Given the description of an element on the screen output the (x, y) to click on. 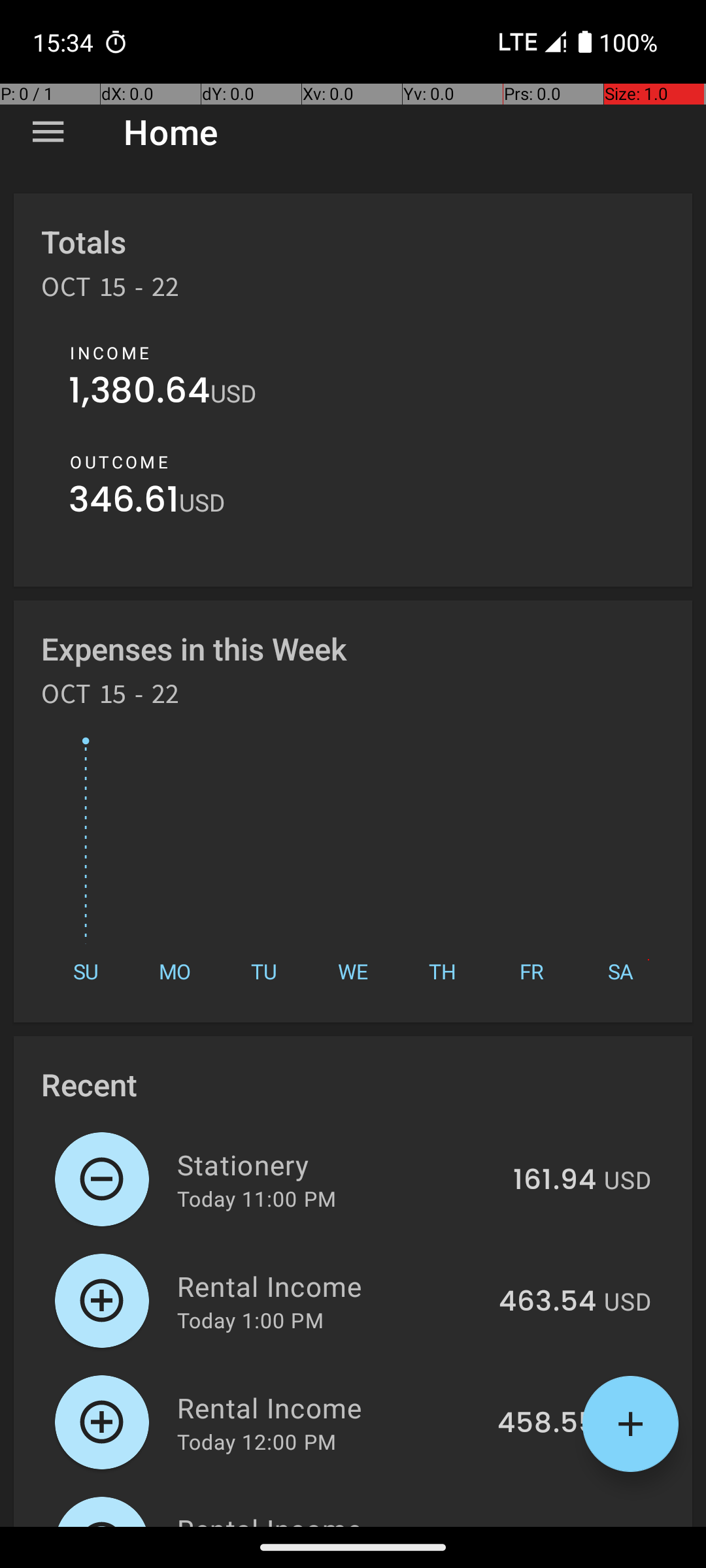
1,380.64 Element type: android.widget.TextView (139, 393)
346.61 Element type: android.widget.TextView (123, 502)
Stationery Element type: android.widget.TextView (337, 1164)
Today 11:00 PM Element type: android.widget.TextView (256, 1198)
161.94 Element type: android.widget.TextView (554, 1180)
Today 1:00 PM Element type: android.widget.TextView (250, 1320)
463.54 Element type: android.widget.TextView (547, 1301)
Today 12:00 PM Element type: android.widget.TextView (256, 1441)
458.55 Element type: android.widget.TextView (546, 1423)
